Given the description of an element on the screen output the (x, y) to click on. 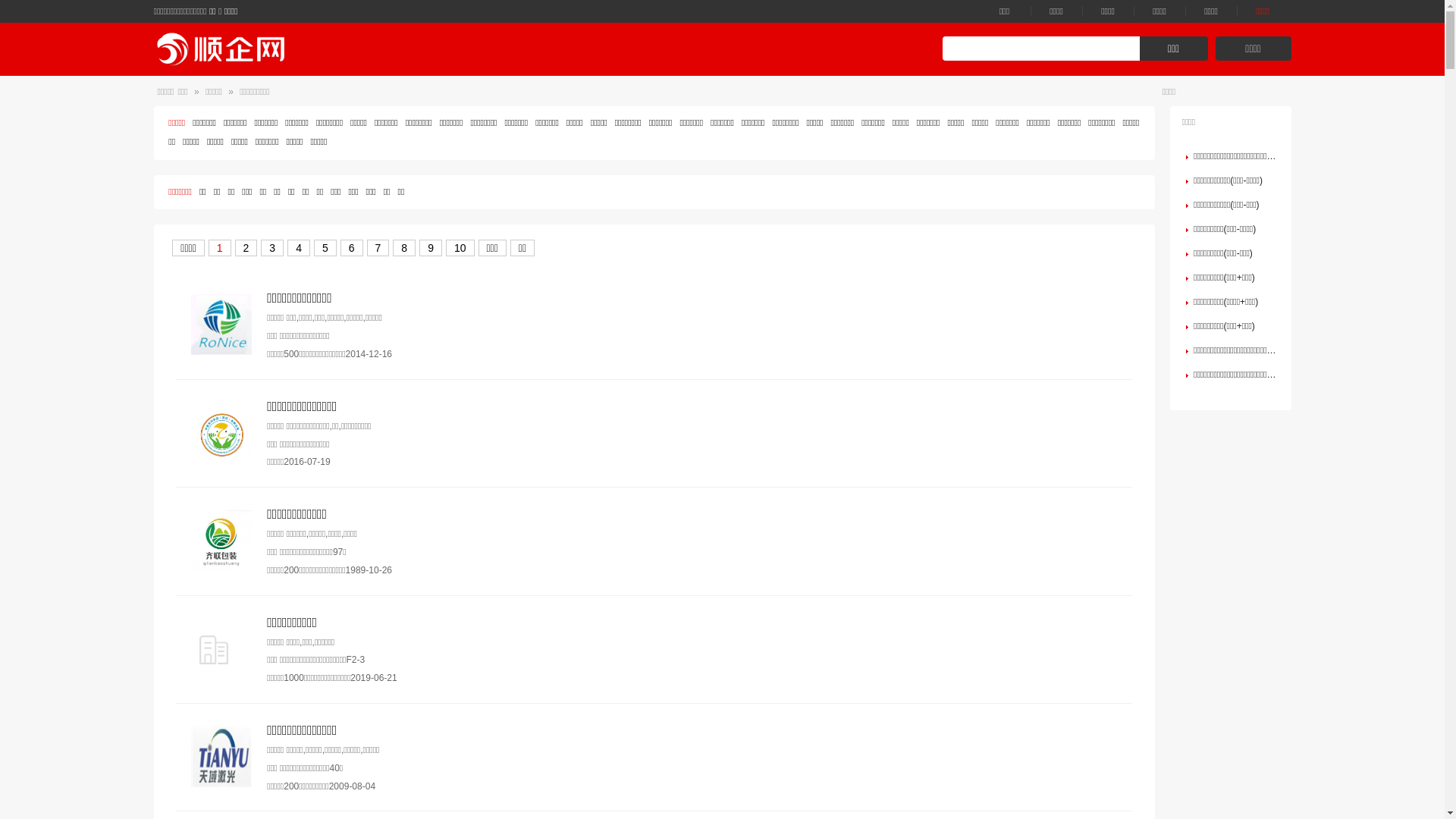
7 Element type: text (378, 247)
10 Element type: text (459, 247)
8 Element type: text (403, 247)
6 Element type: text (351, 247)
5 Element type: text (324, 247)
9 Element type: text (430, 247)
1 Element type: text (219, 247)
2 Element type: text (246, 247)
4 Element type: text (298, 247)
3 Element type: text (271, 247)
